Given the description of an element on the screen output the (x, y) to click on. 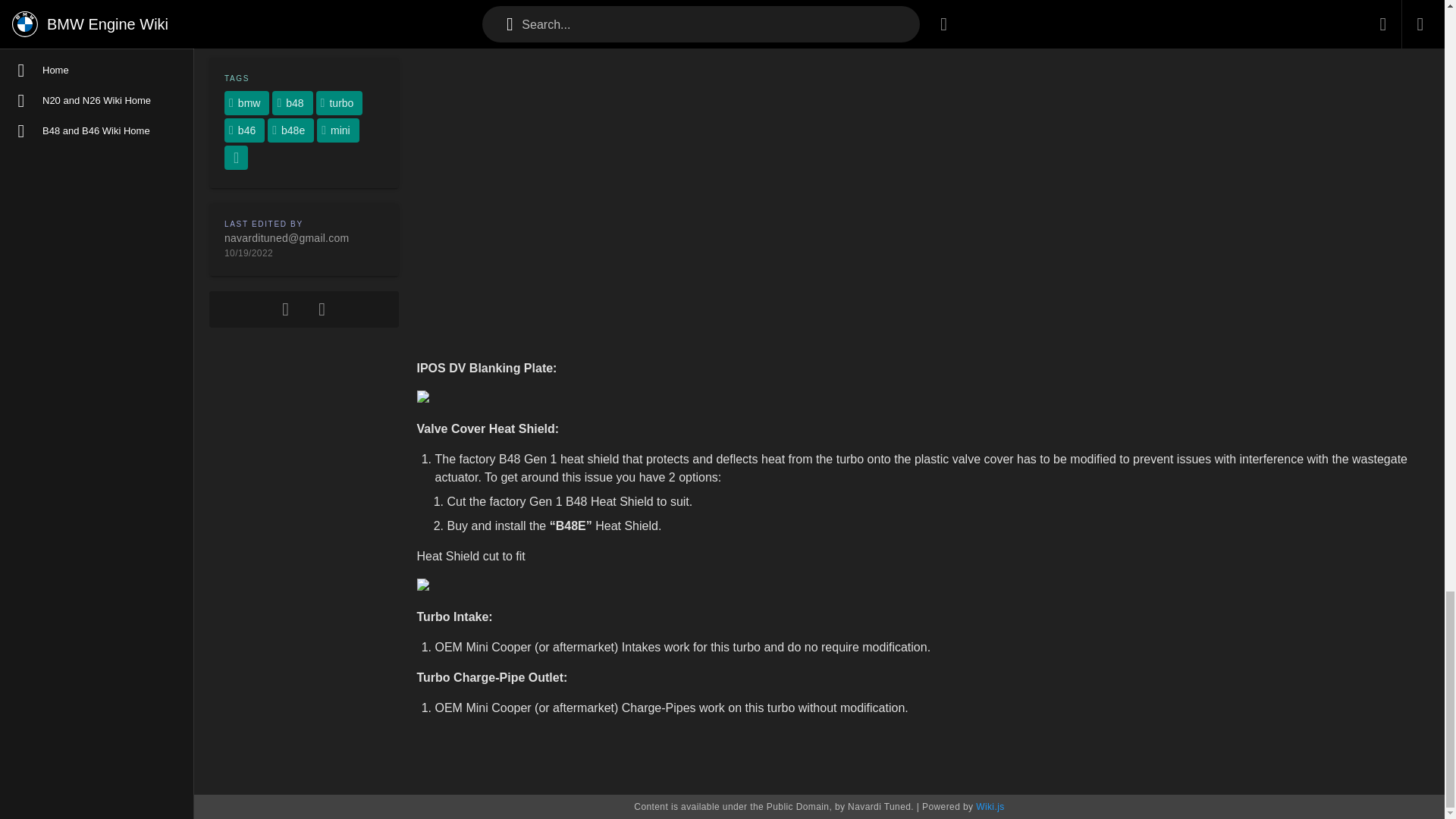
Wiki.js (989, 806)
